Given the description of an element on the screen output the (x, y) to click on. 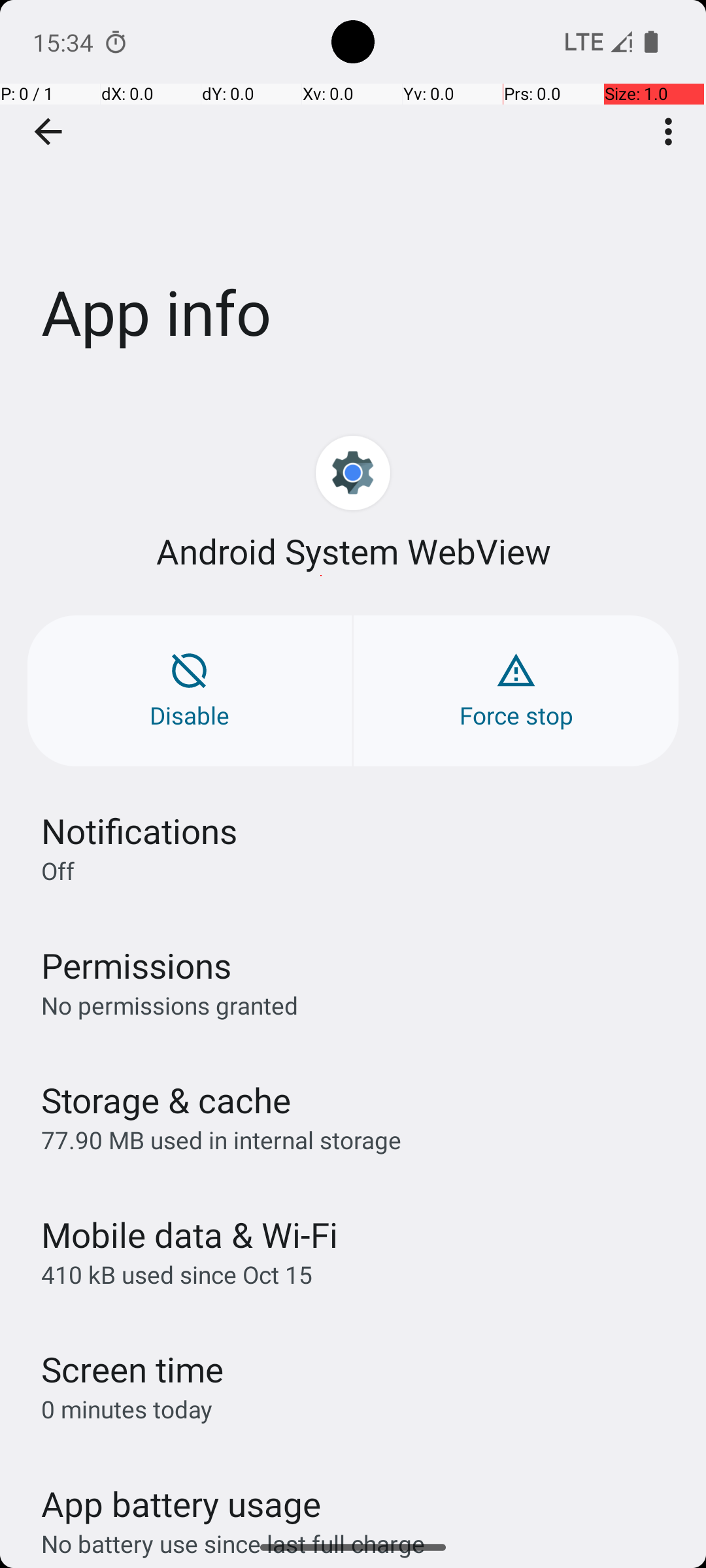
Android System WebView Element type: android.widget.TextView (352, 550)
Disable Element type: android.widget.Button (189, 690)
No permissions granted Element type: android.widget.TextView (169, 1004)
77.90 MB used in internal storage Element type: android.widget.TextView (221, 1139)
410 kB used since Oct 15 Element type: android.widget.TextView (176, 1273)
0 minutes today Element type: android.widget.TextView (127, 1408)
